Given the description of an element on the screen output the (x, y) to click on. 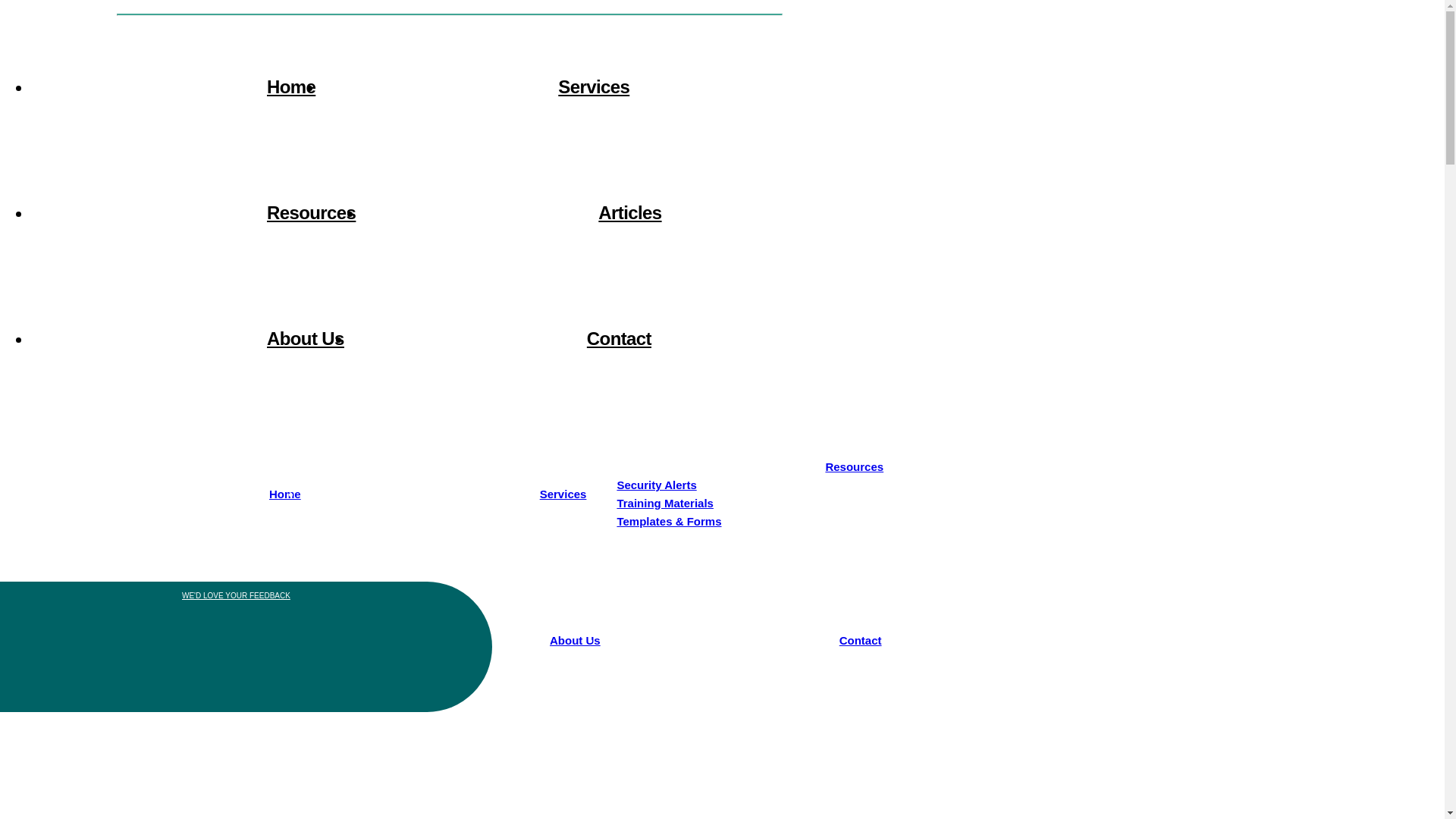
Articles (513, 194)
Training Materials (110, 680)
Security Alerts (101, 662)
Training Materials (664, 502)
Home (165, 493)
Services (478, 69)
Home (176, 69)
Services (443, 493)
Resources (195, 194)
About Us (190, 320)
